Given the description of an element on the screen output the (x, y) to click on. 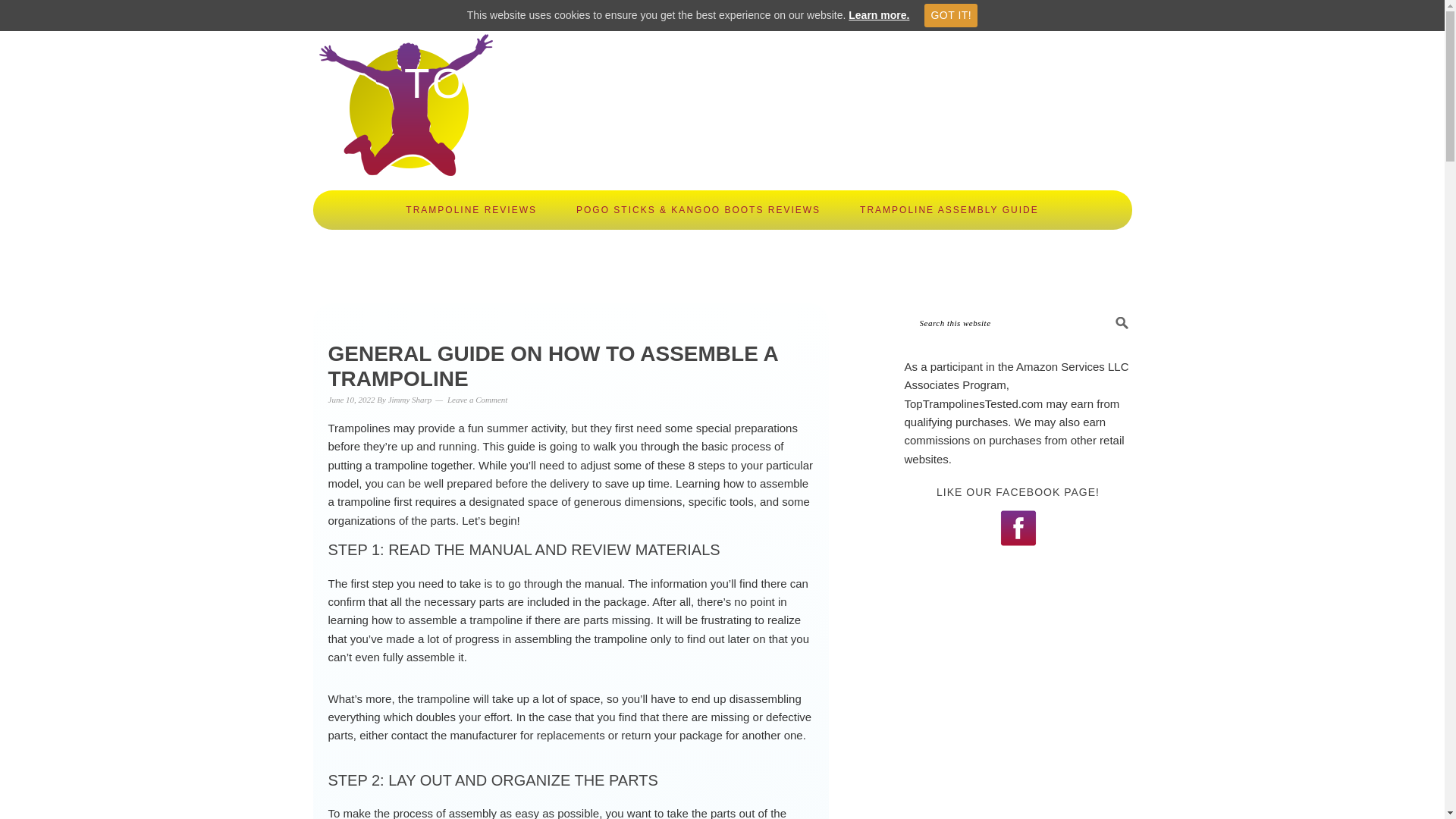
Search (1146, 317)
Learn more. (878, 15)
CONTACT (807, 258)
HOME (626, 258)
TOP TRAMPOLINES TESTED (722, 83)
Search (1146, 317)
Leave a Comment (476, 399)
TRAMPOLINE REVIEWS (471, 210)
TRAMPOLINE ASSEMBLY GUIDE (949, 210)
Search (1146, 317)
ABOUT US (711, 258)
Jimmy Sharp (410, 399)
GOT IT! (950, 15)
